Given the description of an element on the screen output the (x, y) to click on. 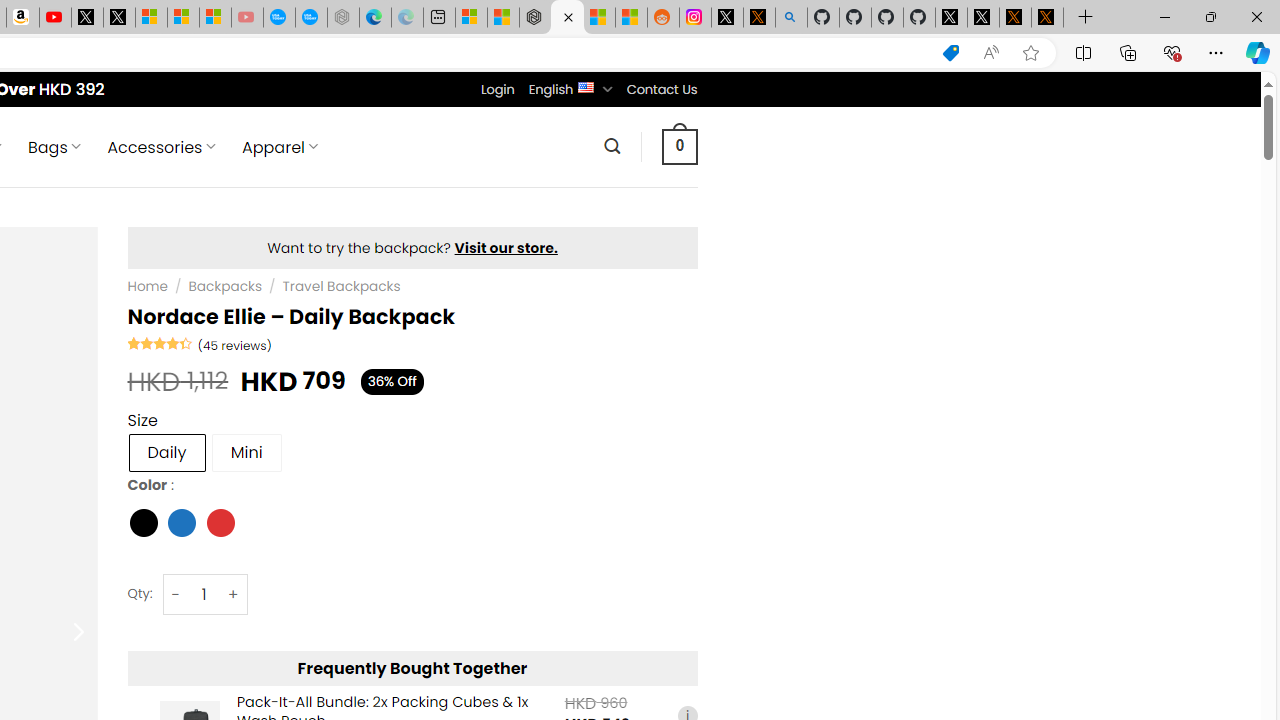
(45 reviews) (234, 344)
github - Search (791, 17)
- (175, 593)
Login (497, 89)
GitHub (@github) / X (983, 17)
 0  (679, 146)
